Given the description of an element on the screen output the (x, y) to click on. 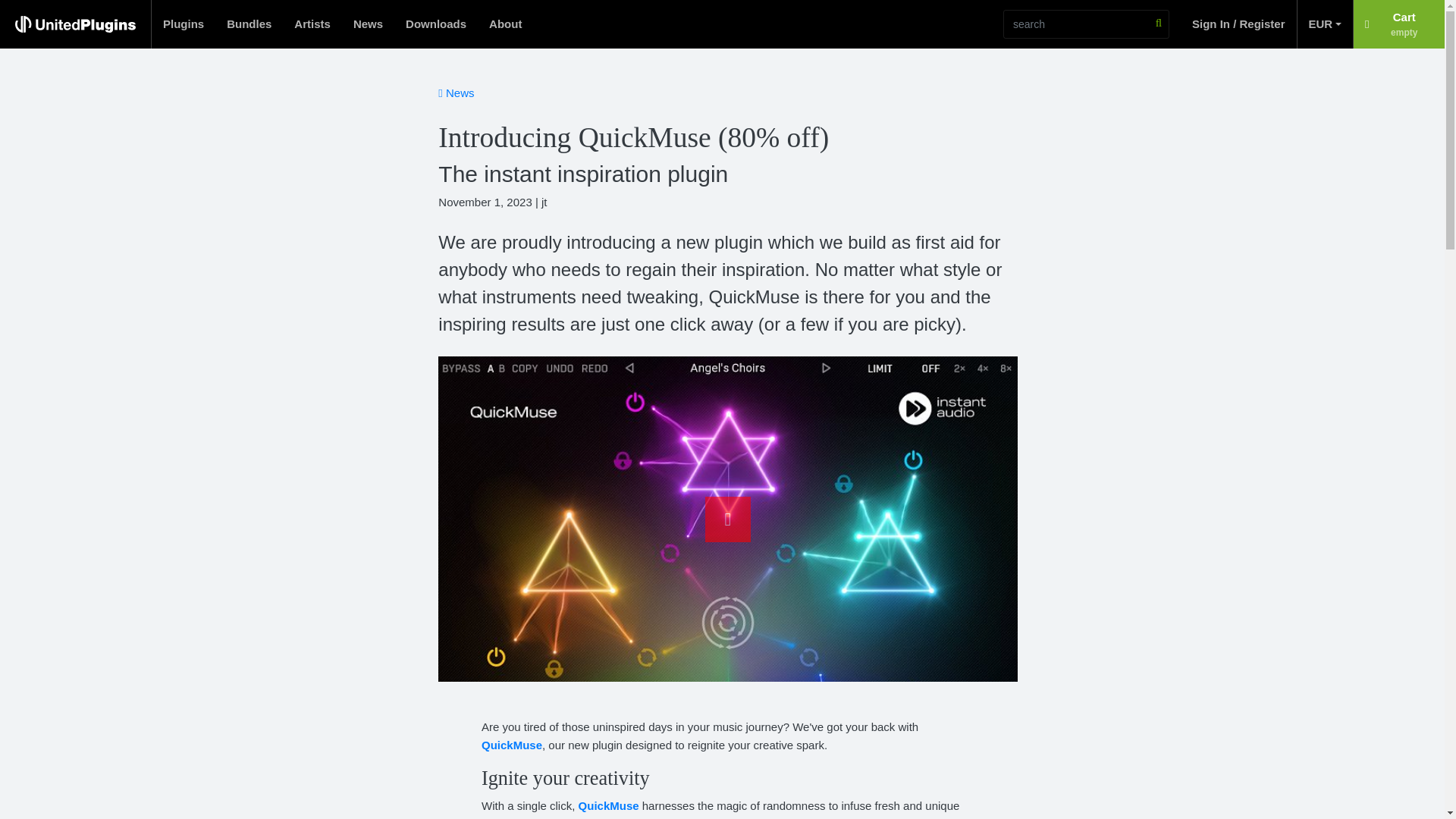
News (368, 24)
About (1399, 24)
Plugins (504, 24)
EUR (183, 24)
Bundles (1324, 24)
Downloads (248, 24)
Artists (435, 24)
